Given the description of an element on the screen output the (x, y) to click on. 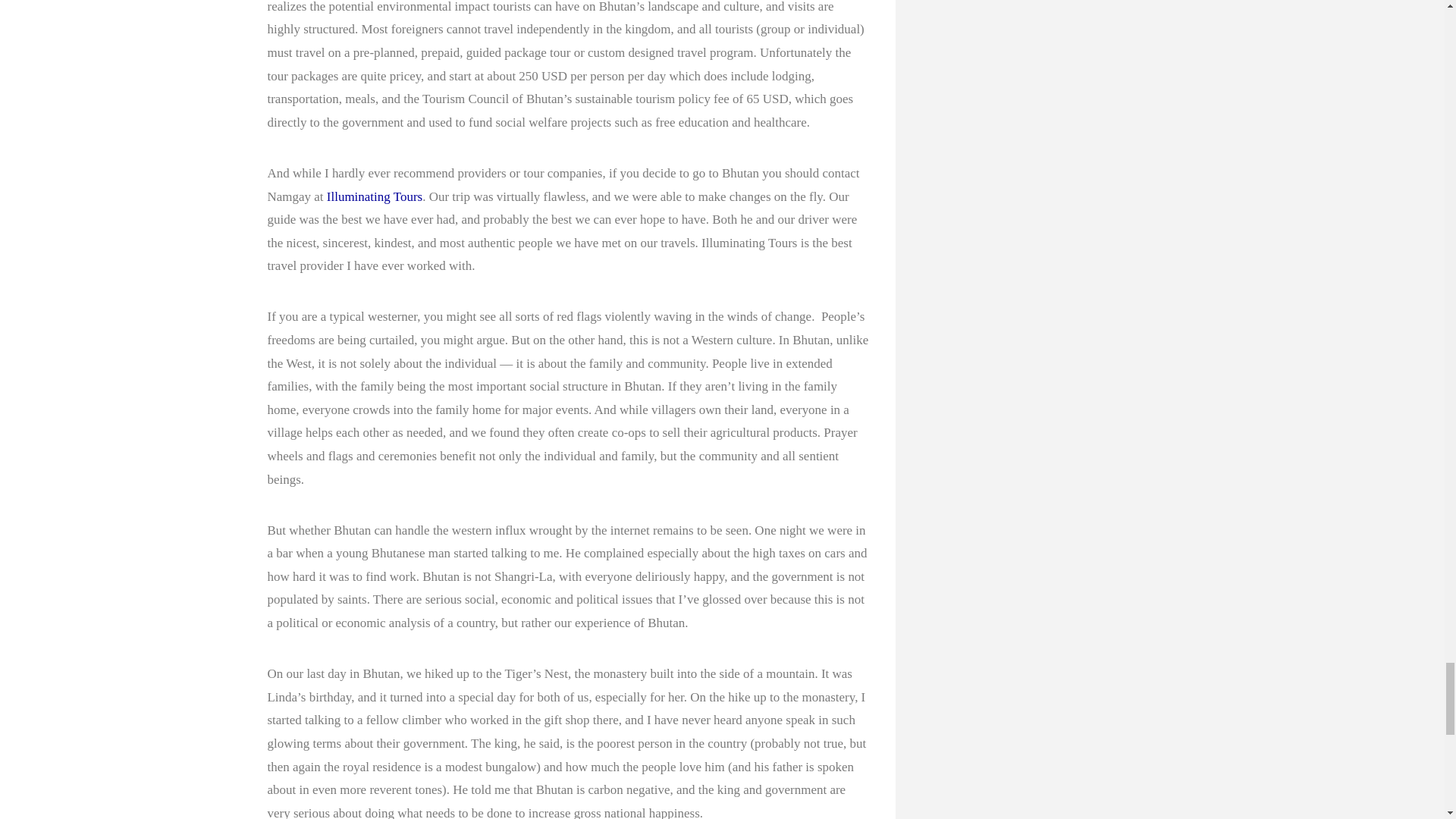
Illuminating Tours (374, 196)
